Given the description of an element on the screen output the (x, y) to click on. 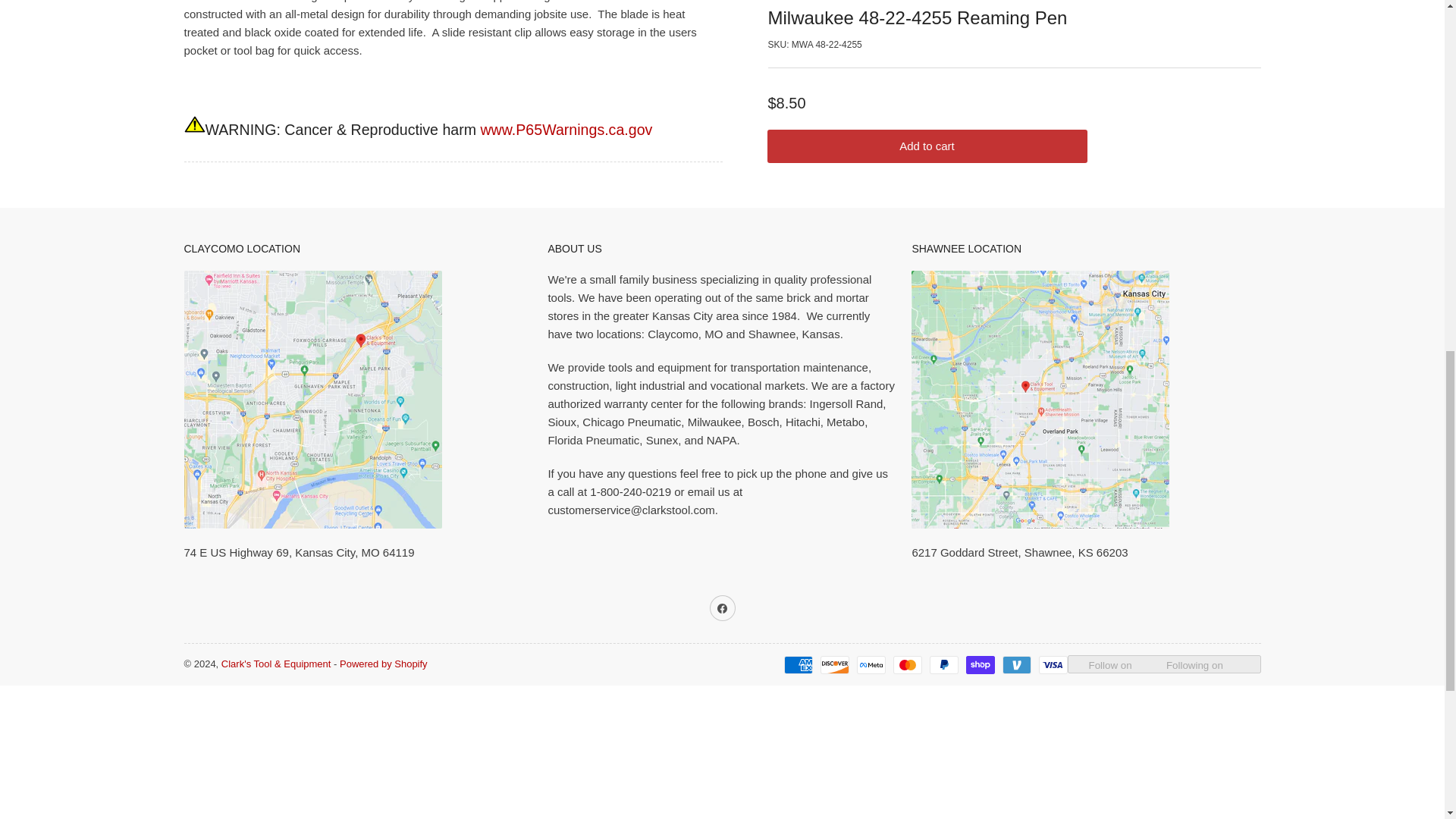
Venmo (1016, 665)
Visa (1053, 665)
Shop Pay (980, 665)
American Express (798, 665)
PayPal (944, 665)
Meta Pay (871, 665)
Mastercard (907, 665)
Discover (834, 665)
